Given the description of an element on the screen output the (x, y) to click on. 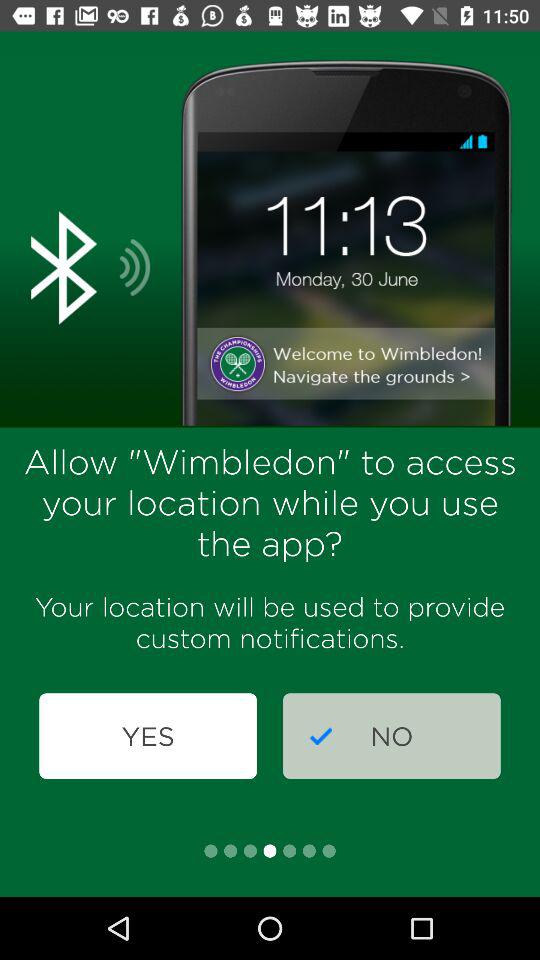
swipe to the yes item (147, 735)
